Given the description of an element on the screen output the (x, y) to click on. 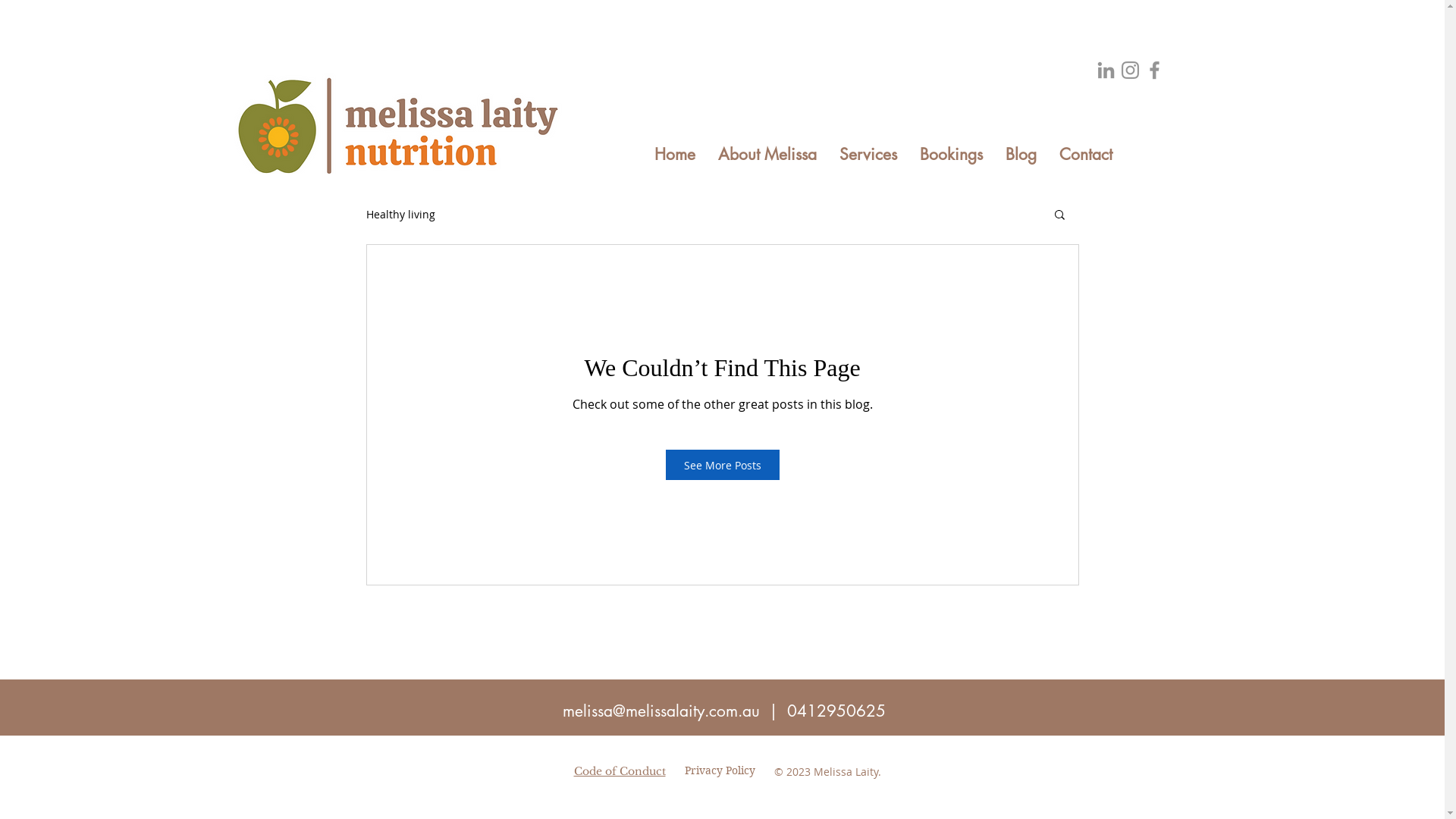
Code of Conduct Element type: text (619, 771)
Contact Element type: text (1085, 154)
Blog Element type: text (1021, 154)
See More Posts Element type: text (722, 464)
About Melissa Element type: text (767, 154)
Healthy living Element type: text (399, 213)
Home Element type: text (674, 154)
melissa@melissalaity.com.au Element type: text (660, 710)
Bookings Element type: text (951, 154)
